Given the description of an element on the screen output the (x, y) to click on. 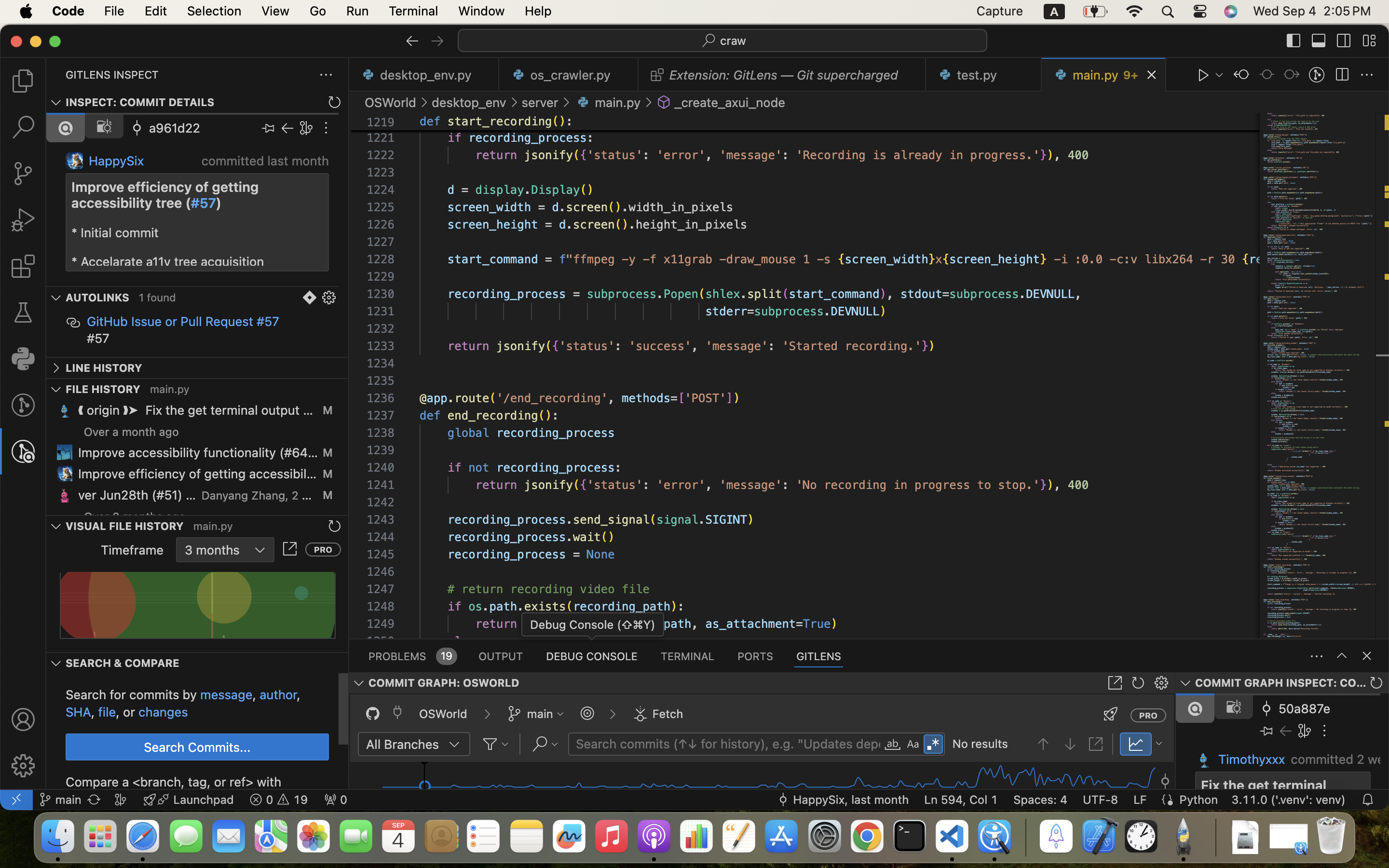
 Element type: AXButton (1291, 74)
 Element type: AXButton (1114, 682)
Fetch Element type: AXStaticText (667, 713)
Extension: GitLens — Git supercharged Element type: AXStaticText (783, 74)
COMMIT GRAPH: OSWORLD Element type: AXStaticText (443, 683)
